Given the description of an element on the screen output the (x, y) to click on. 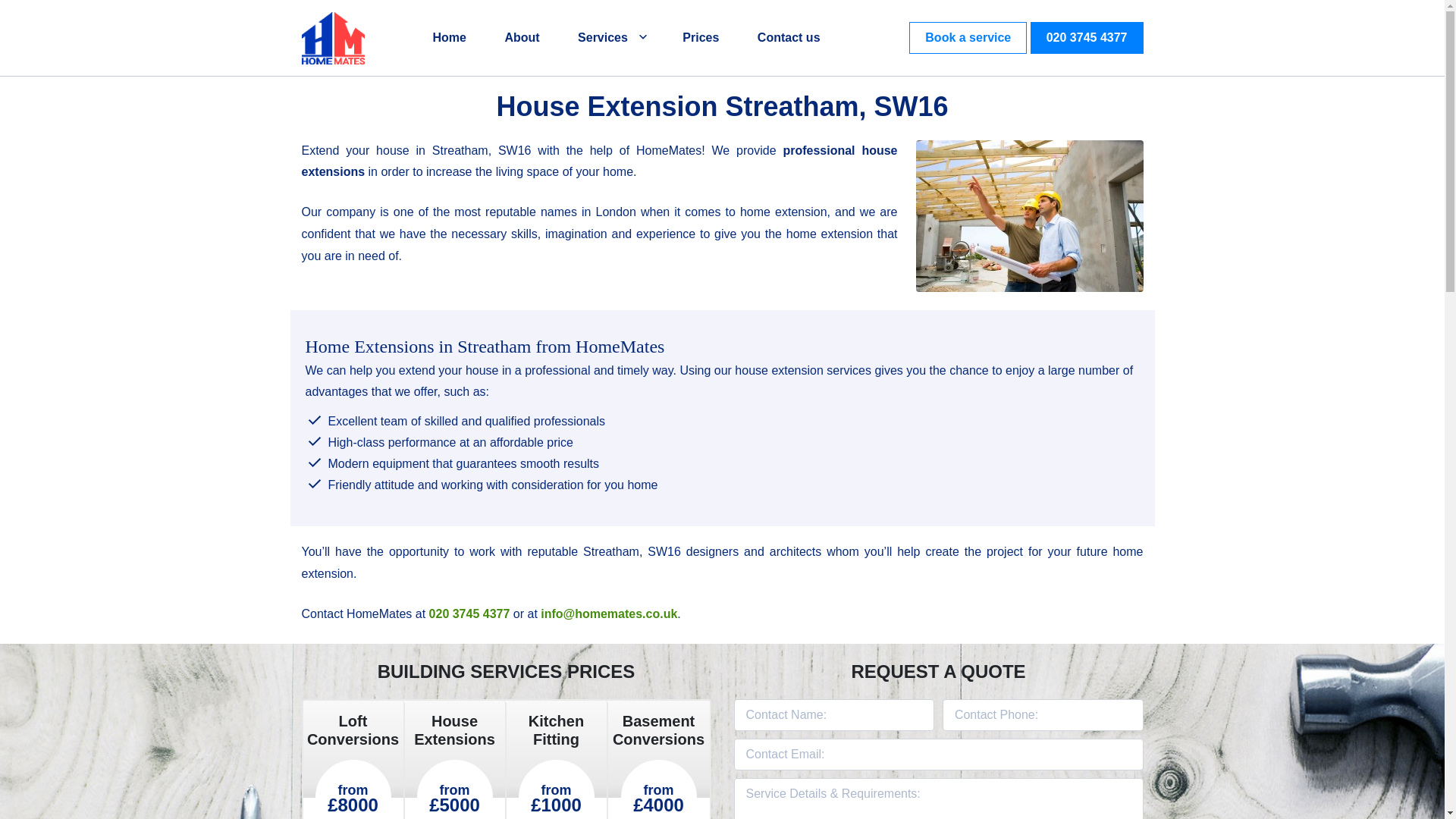
Services (611, 37)
About (520, 37)
Prices (701, 37)
Book a service (967, 38)
020 3745 4377 (1086, 38)
Contact us (789, 37)
Home (448, 37)
